Given the description of an element on the screen output the (x, y) to click on. 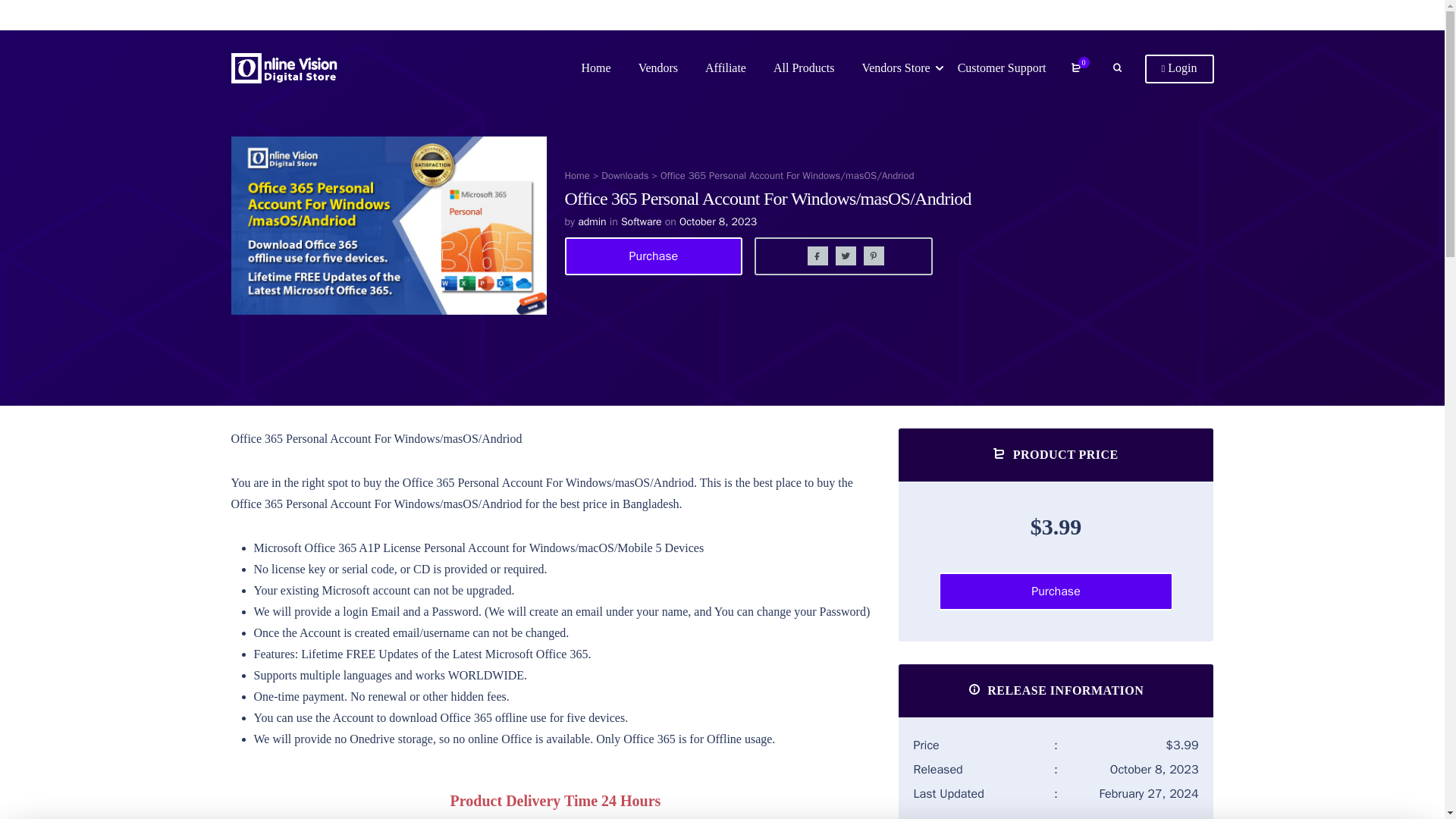
All Products (803, 67)
Purchase (653, 256)
Home (576, 174)
Home (576, 174)
Vendors Store (896, 67)
Downloads (624, 174)
All Products (803, 67)
Customer Support (1002, 67)
Vendors Store (896, 67)
Customer Support (1002, 67)
Software (641, 221)
admin (591, 221)
Purchase (88, 18)
Login (1179, 68)
